Given the description of an element on the screen output the (x, y) to click on. 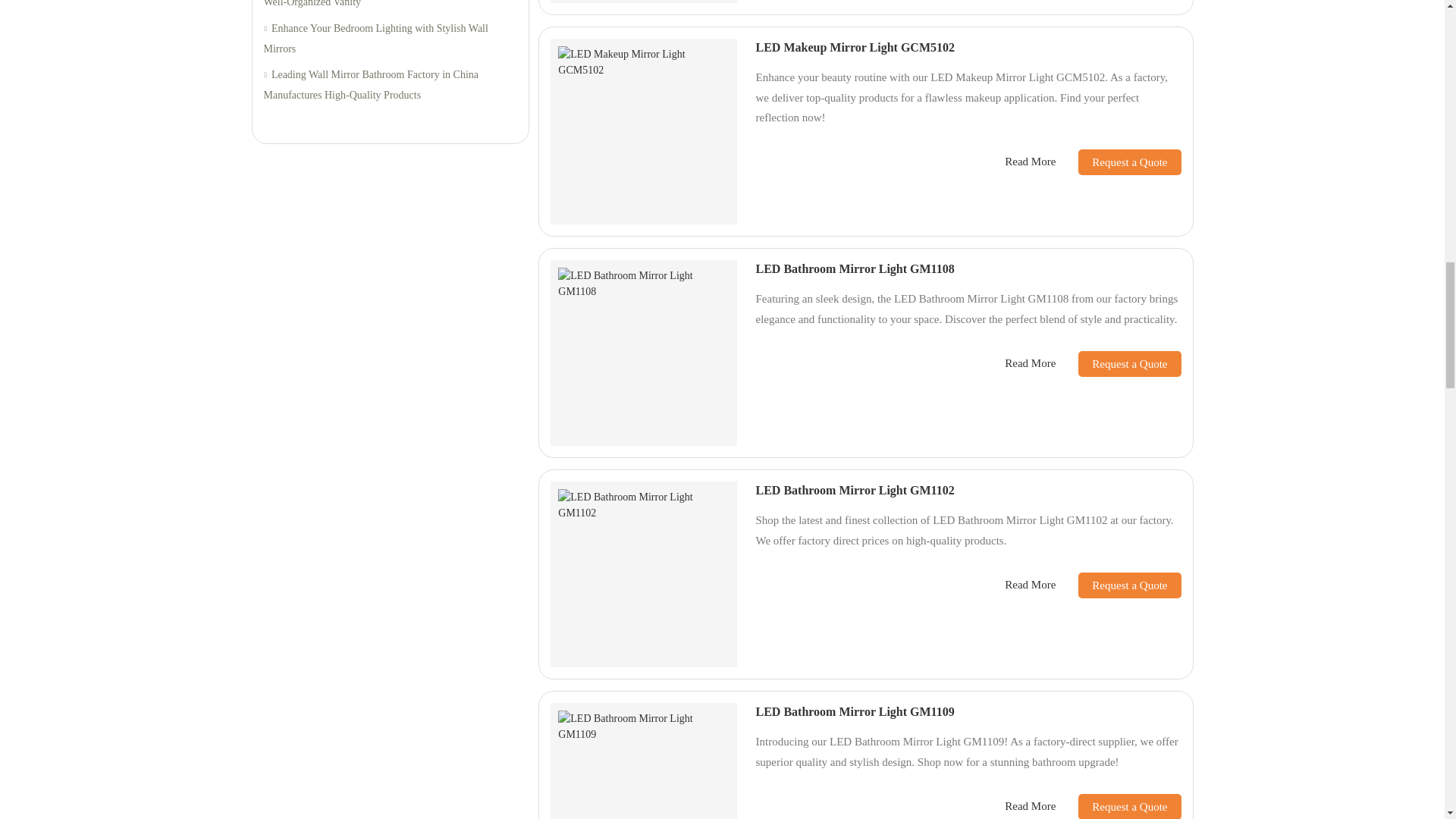
Enhance Your Bedroom Lighting with Stylish Wall Mirrors (389, 38)
